Given the description of an element on the screen output the (x, y) to click on. 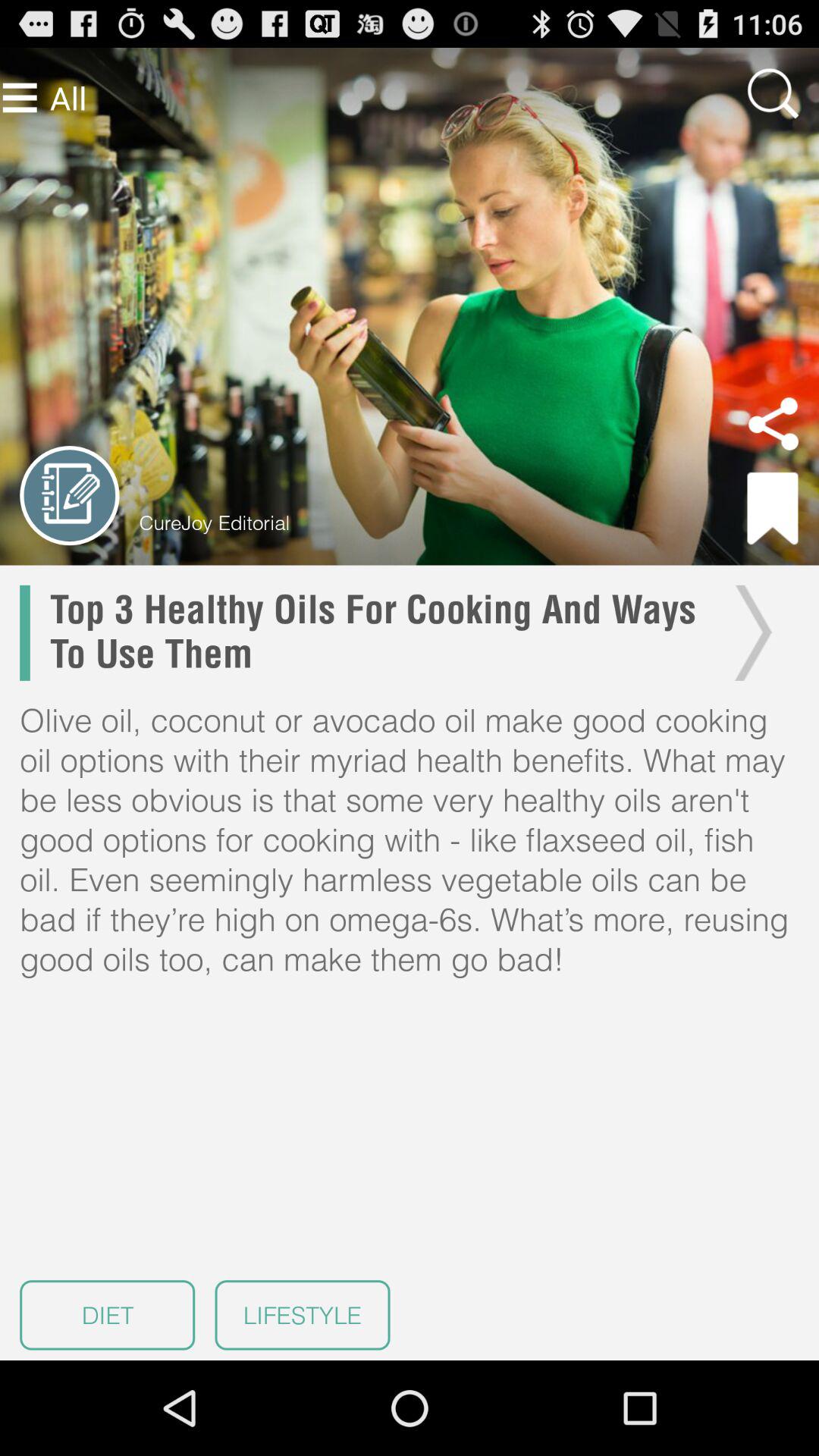
display menu options (19, 97)
